Given the description of an element on the screen output the (x, y) to click on. 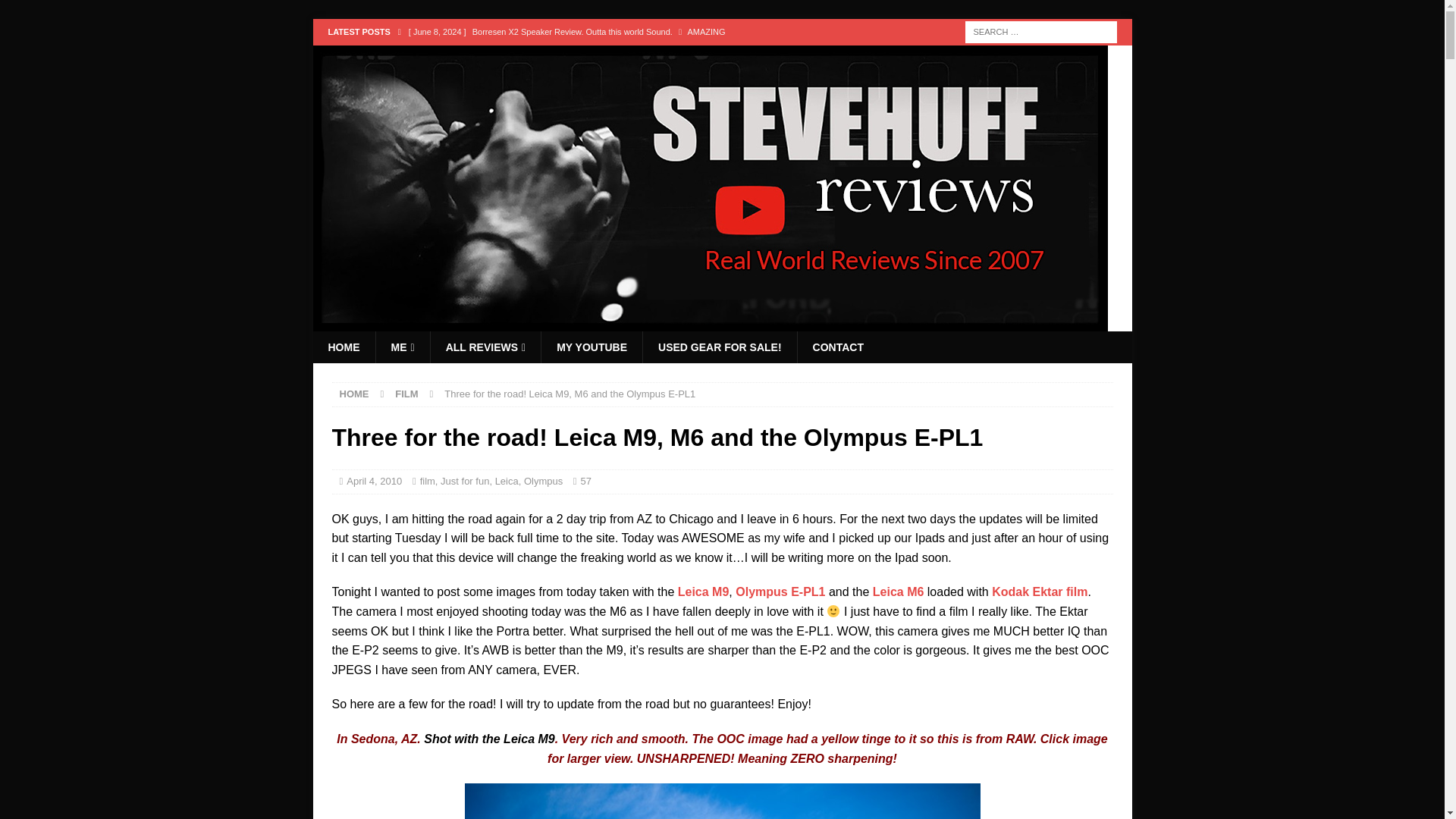
HOME (343, 347)
FILM (405, 393)
USED GEAR FOR SALE! (719, 347)
April 4, 2010 (373, 480)
ALL REVIEWS (485, 347)
film (427, 480)
HOME (354, 393)
MY YOUTUBE (591, 347)
AGD Duet Monoblock Amps BLOW MY MIND! Desert Island Amps! (630, 57)
Steve Huff Hi-Fi and Photo (709, 322)
Search (56, 11)
ME (401, 347)
m9raw (721, 800)
CONTACT (837, 347)
Borresen X2 Speaker Review. Outta this world Sound. (630, 31)
